Given the description of an element on the screen output the (x, y) to click on. 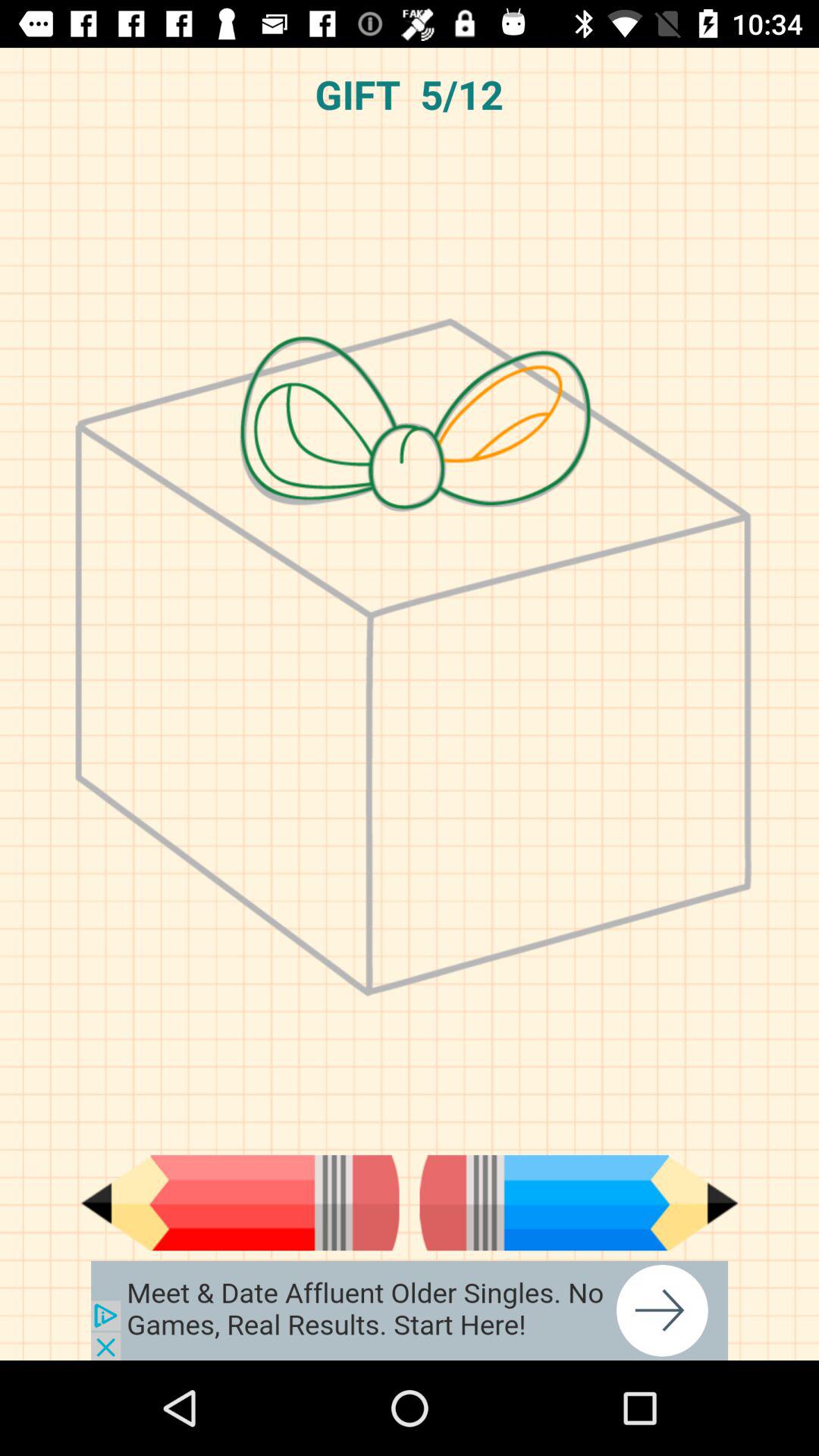
go to previous (239, 1202)
